Given the description of an element on the screen output the (x, y) to click on. 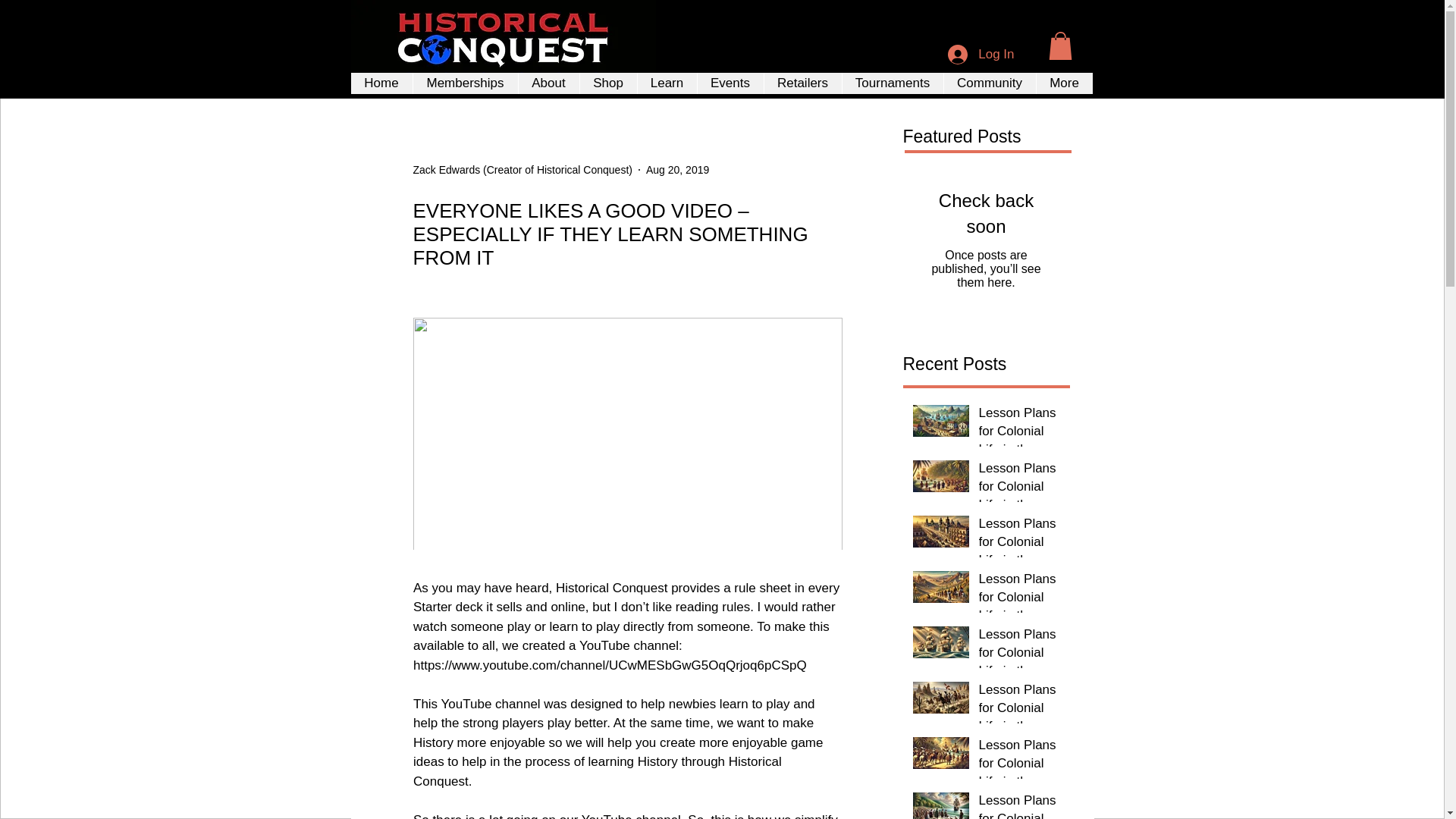
Shop (608, 83)
Log In (981, 54)
Home (381, 83)
Memberships (465, 83)
Retailers (801, 83)
Aug 20, 2019 (677, 169)
Events (728, 83)
Learn (667, 83)
About (547, 83)
